Given the description of an element on the screen output the (x, y) to click on. 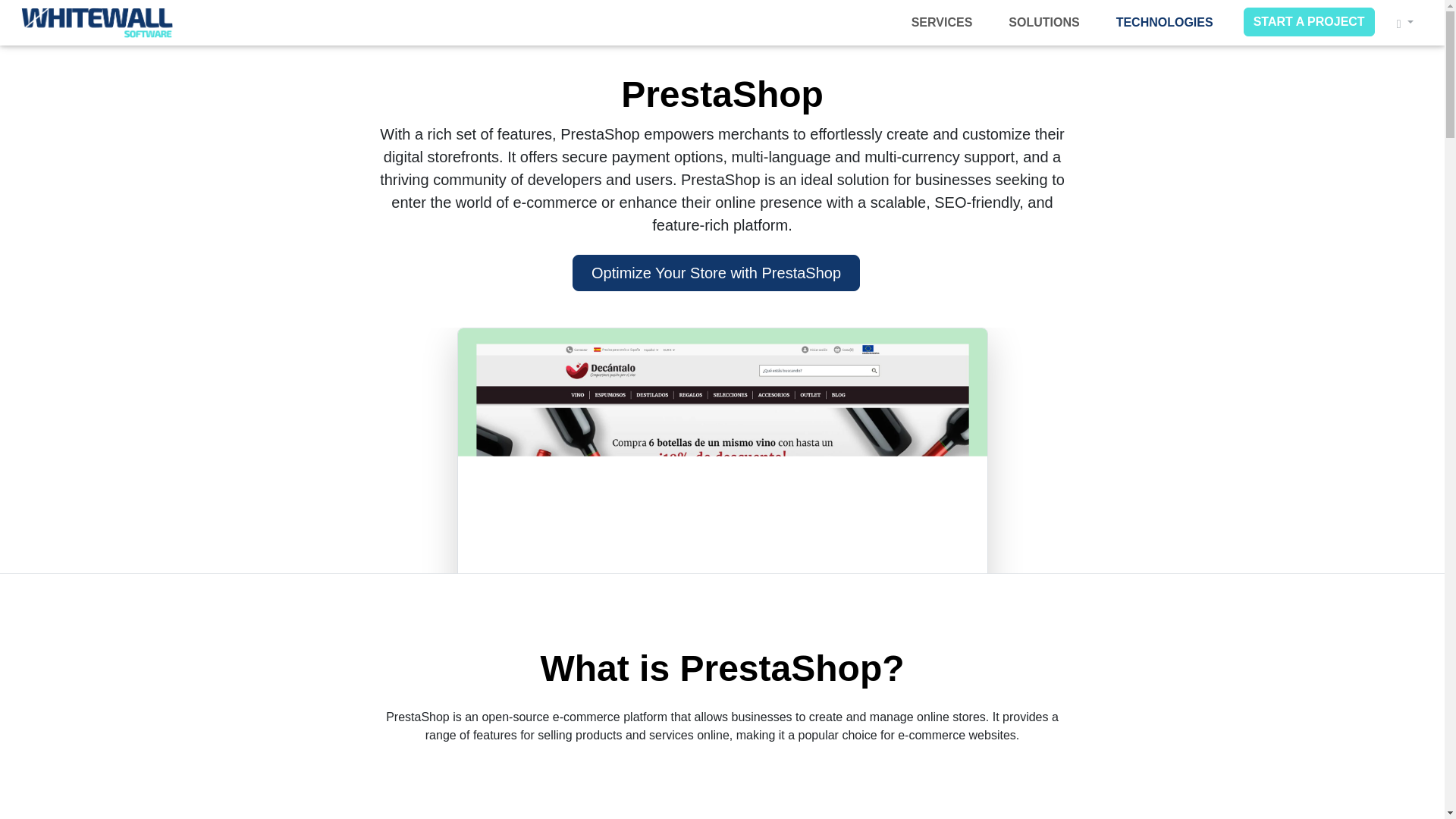
SERVICES (941, 22)
SOLUTIONS (1043, 22)
Optimize Your Store with PrestaShop (716, 272)
TECHNOLOGIES (1164, 22)
START A PROJECT (1308, 21)
